Given the description of an element on the screen output the (x, y) to click on. 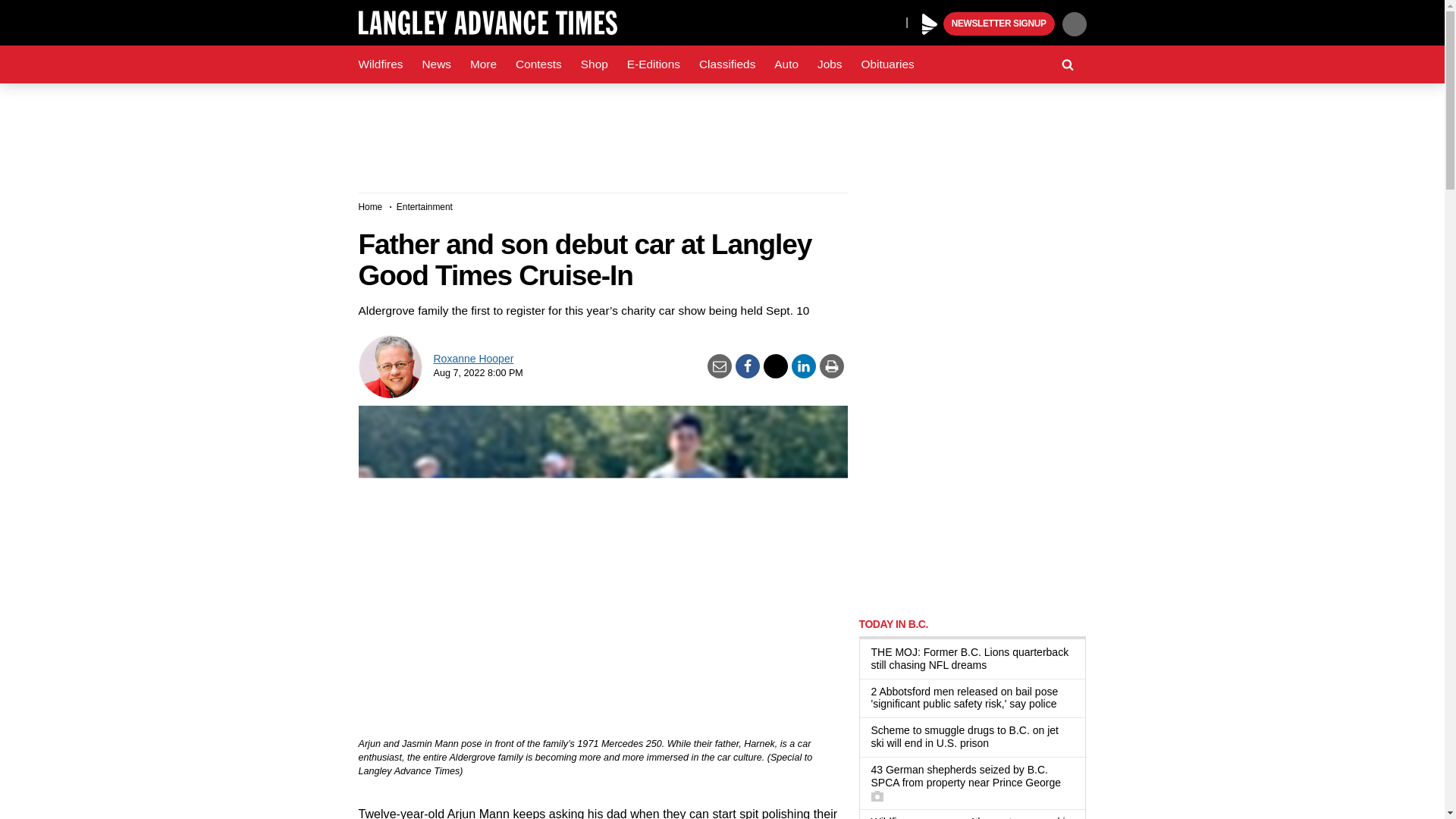
Has a gallery (876, 796)
Wildfires (380, 64)
X (889, 21)
News (435, 64)
NEWSLETTER SIGNUP (998, 24)
Play (929, 24)
Black Press Media (929, 24)
